Given the description of an element on the screen output the (x, y) to click on. 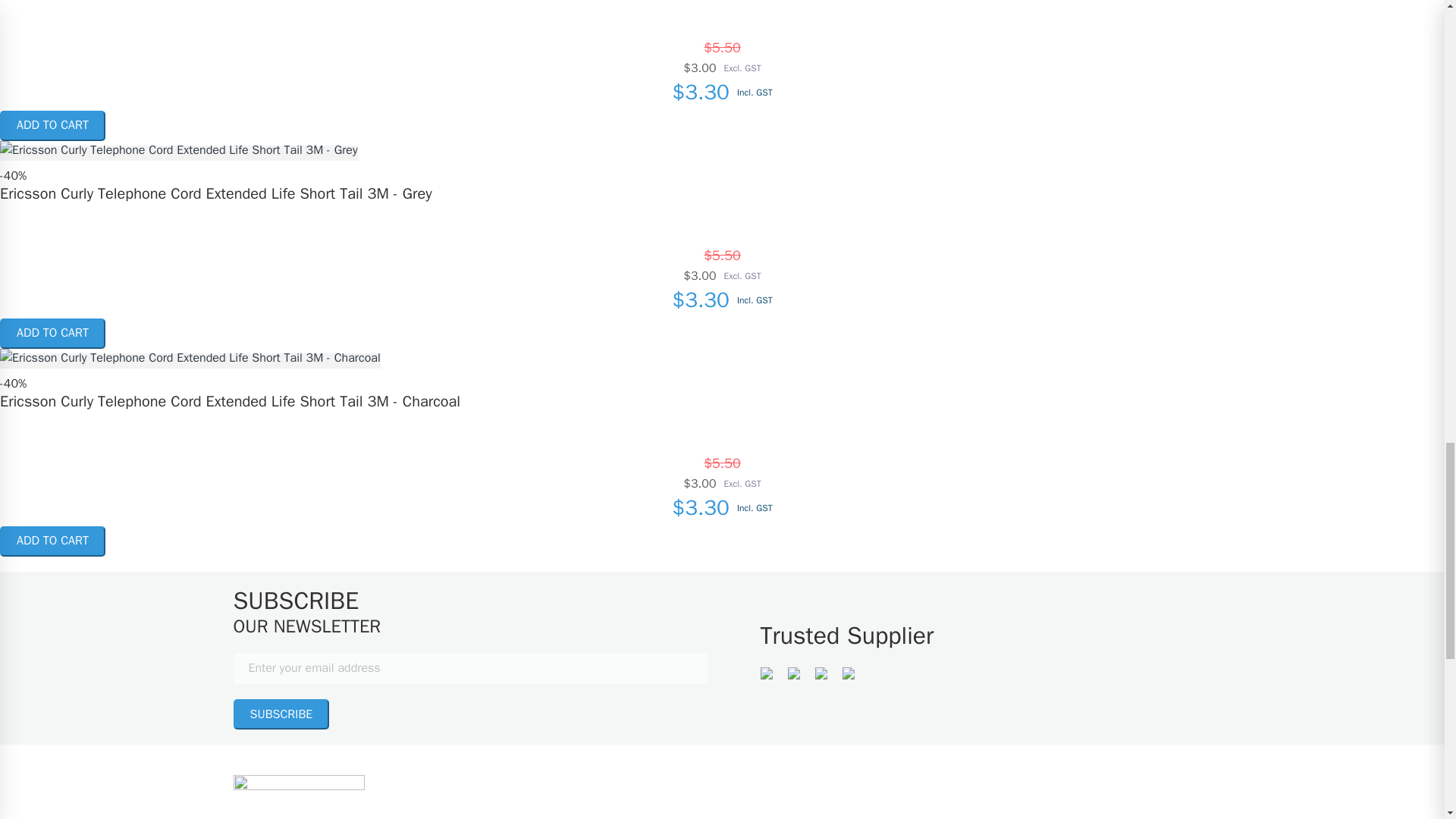
Add to Cart (52, 125)
